Given the description of an element on the screen output the (x, y) to click on. 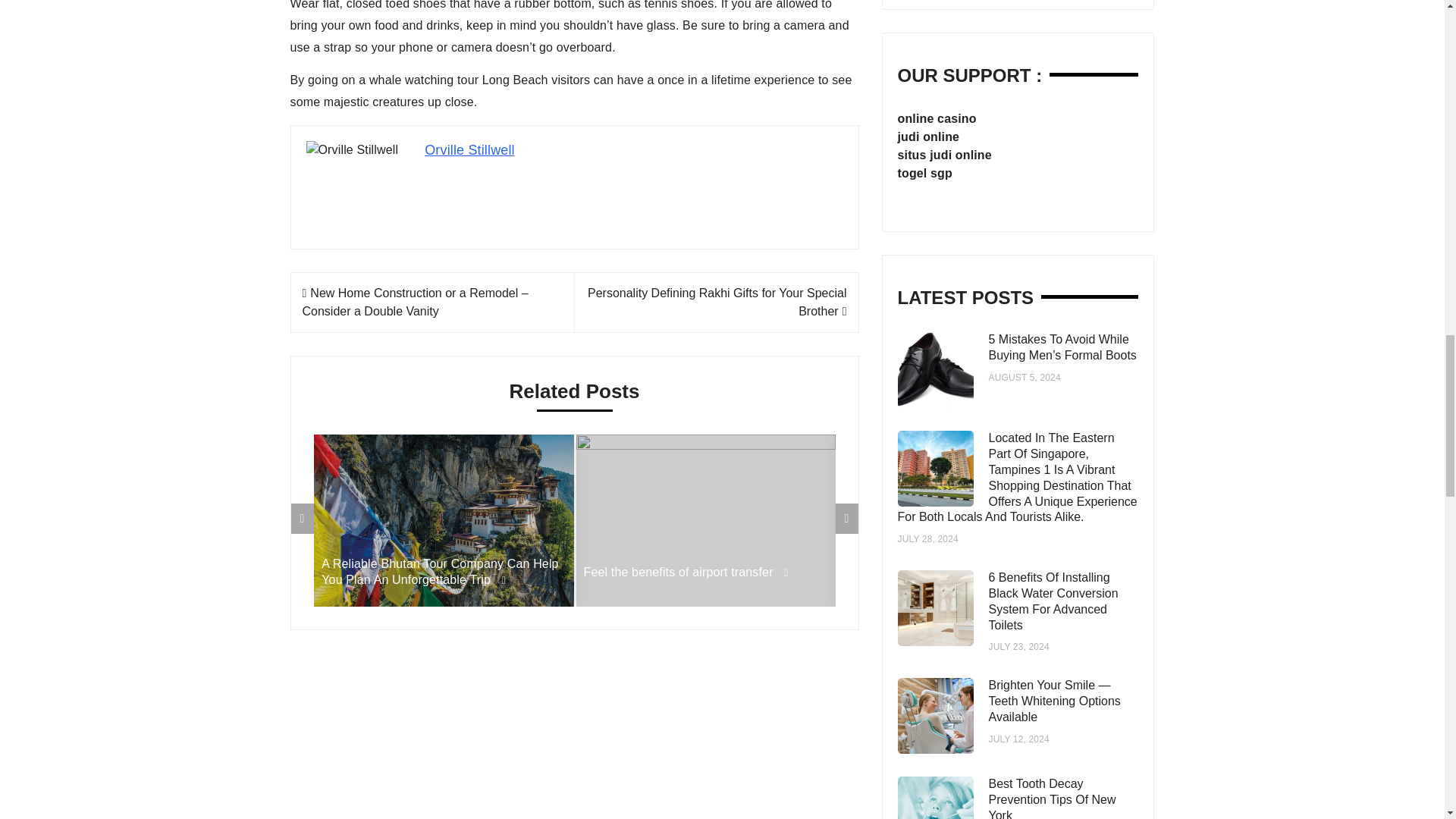
Feel the benefits of airport transfer (705, 571)
Personality Defining Rakhi Gifts for Your Special Brother (717, 301)
Orville Stillwell (470, 150)
